Given the description of an element on the screen output the (x, y) to click on. 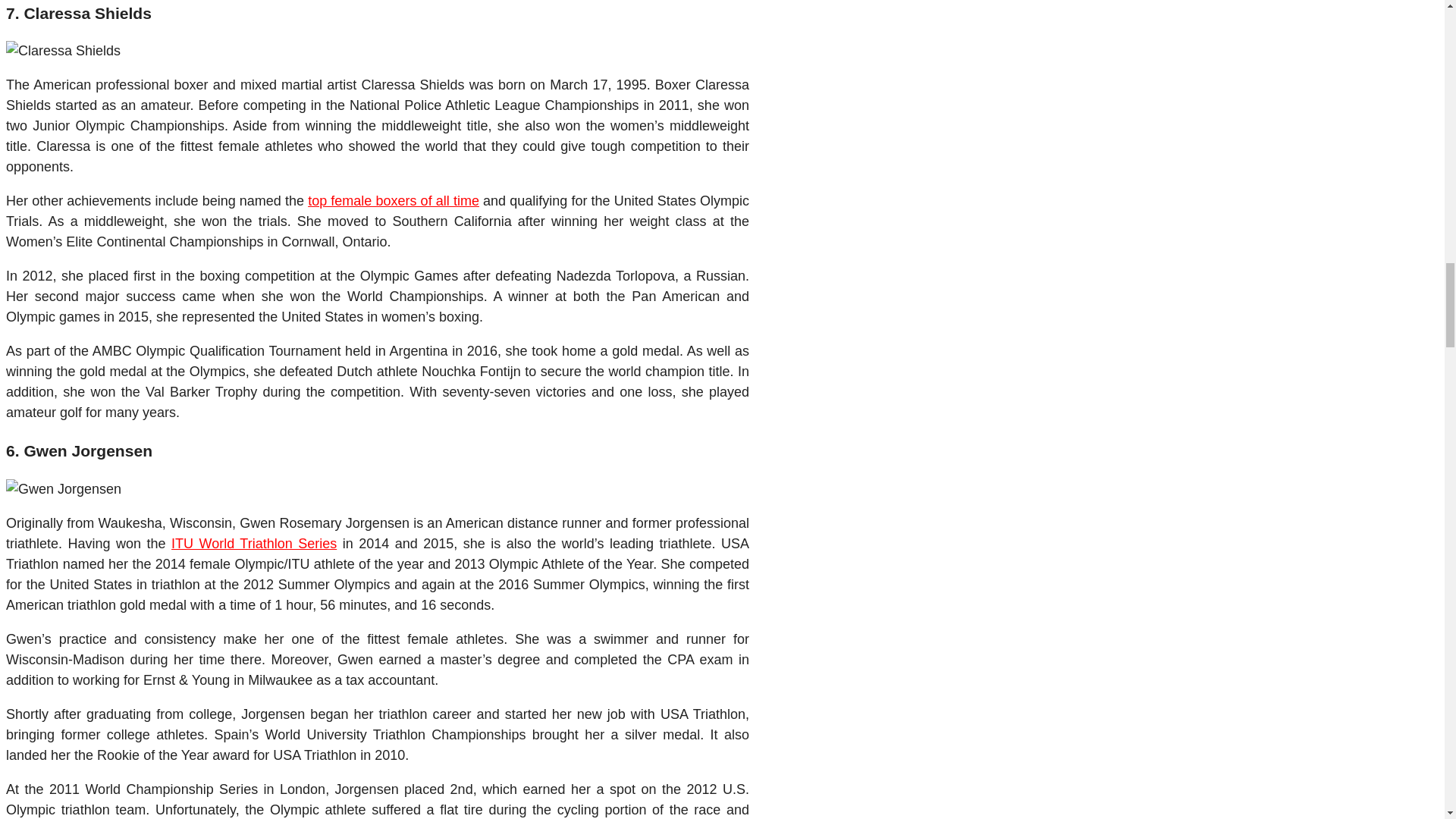
ITU World Triathlon Series (253, 543)
top female boxers of all time (393, 200)
